Given the description of an element on the screen output the (x, y) to click on. 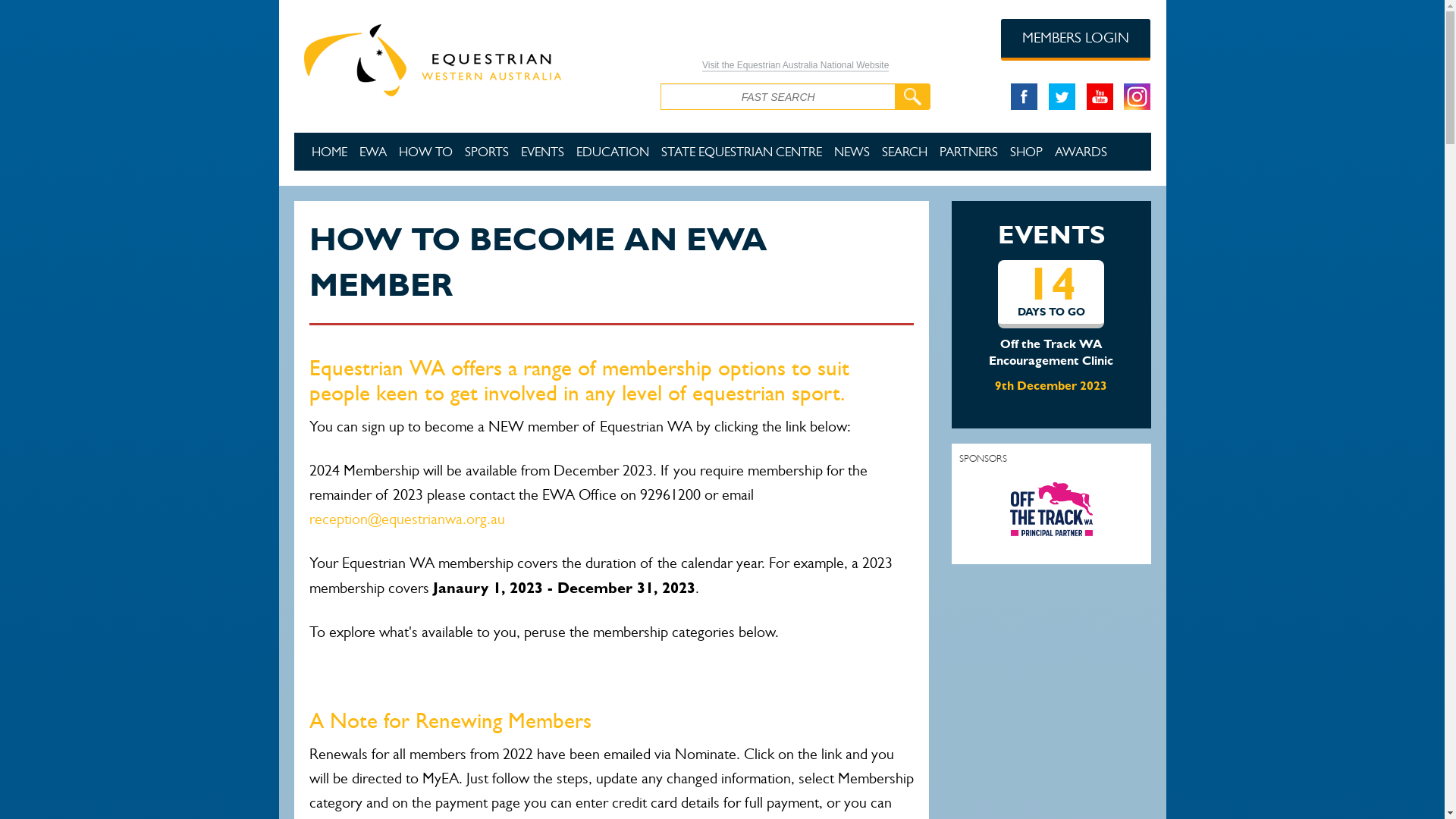
MEMBERS LOGIN Element type: text (1075, 39)
SEARCH Element type: text (903, 151)
SPORTS Element type: text (486, 151)
AWARDS Element type: text (1080, 151)
STATE EQUESTRIAN CENTRE Element type: text (741, 151)
EDUCATION Element type: text (612, 151)
Visit the Equestrian Australia National Website Element type: text (795, 65)
EWA Element type: text (372, 151)
reception@equestrianwa.org.au Element type: text (407, 518)
NEWS Element type: text (851, 151)
HOME Element type: text (328, 151)
Home Element type: hover (465, 57)
EVENTS Element type: text (541, 151)
Skip to main content Element type: text (48, 0)
PARTNERS Element type: text (967, 151)
HOW TO Element type: text (425, 151)
SHOP Element type: text (1026, 151)
